Given the description of an element on the screen output the (x, y) to click on. 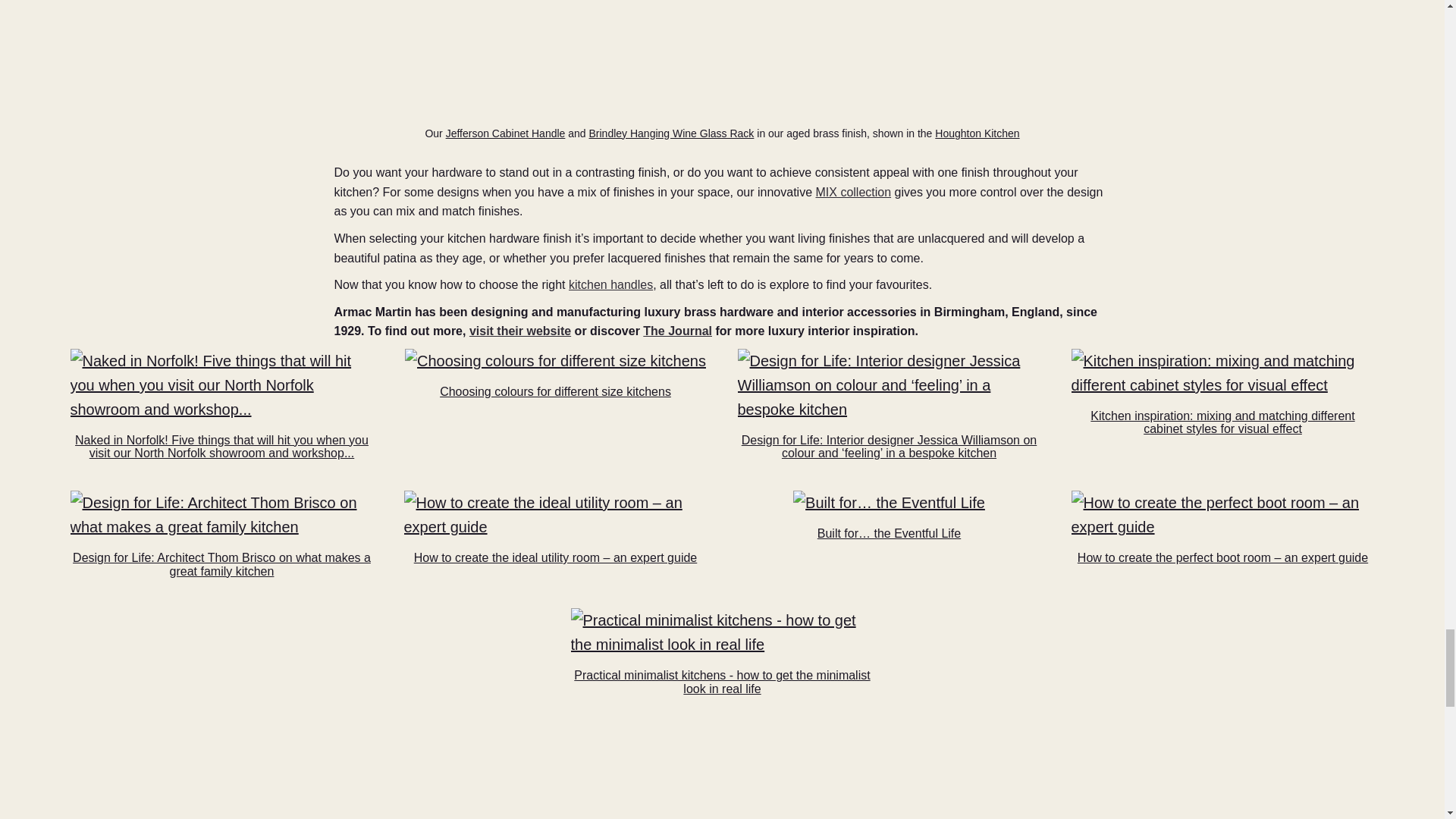
Choosing colours for different size kitchens (555, 360)
